Given the description of an element on the screen output the (x, y) to click on. 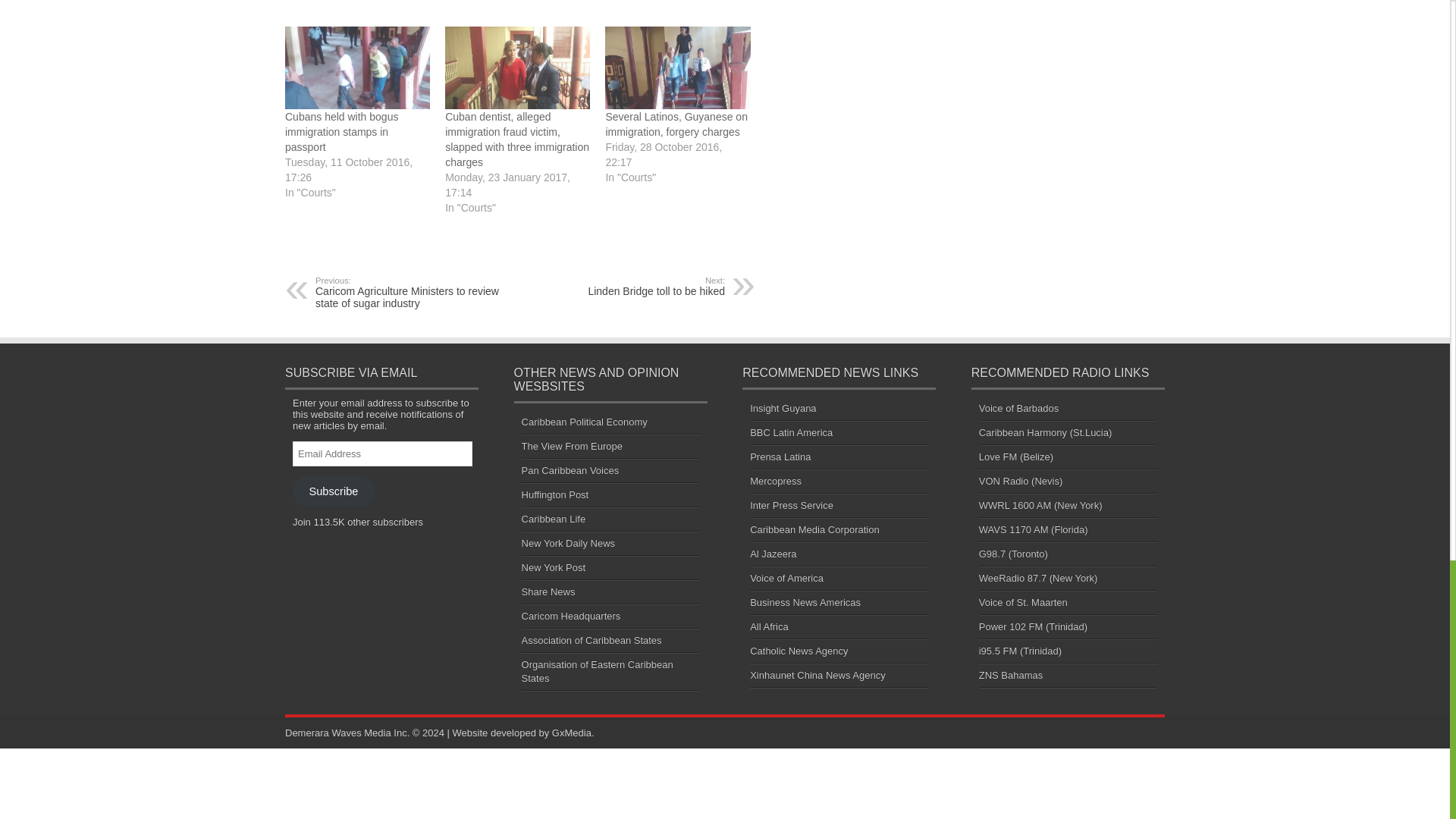
Cubans held with bogus immigration stamps in passport (341, 131)
